Given the description of an element on the screen output the (x, y) to click on. 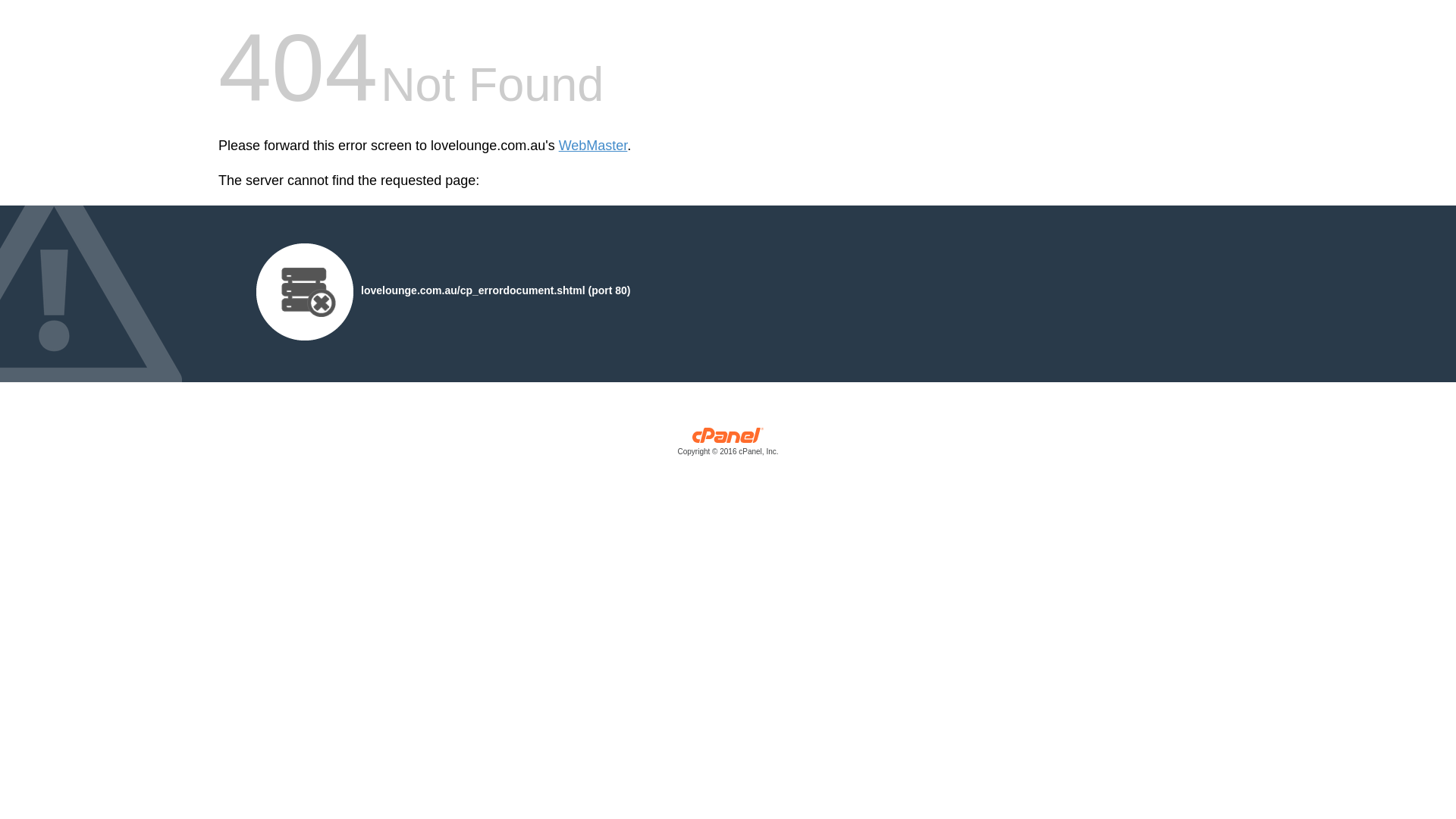
WebMaster Element type: text (592, 145)
